Given the description of an element on the screen output the (x, y) to click on. 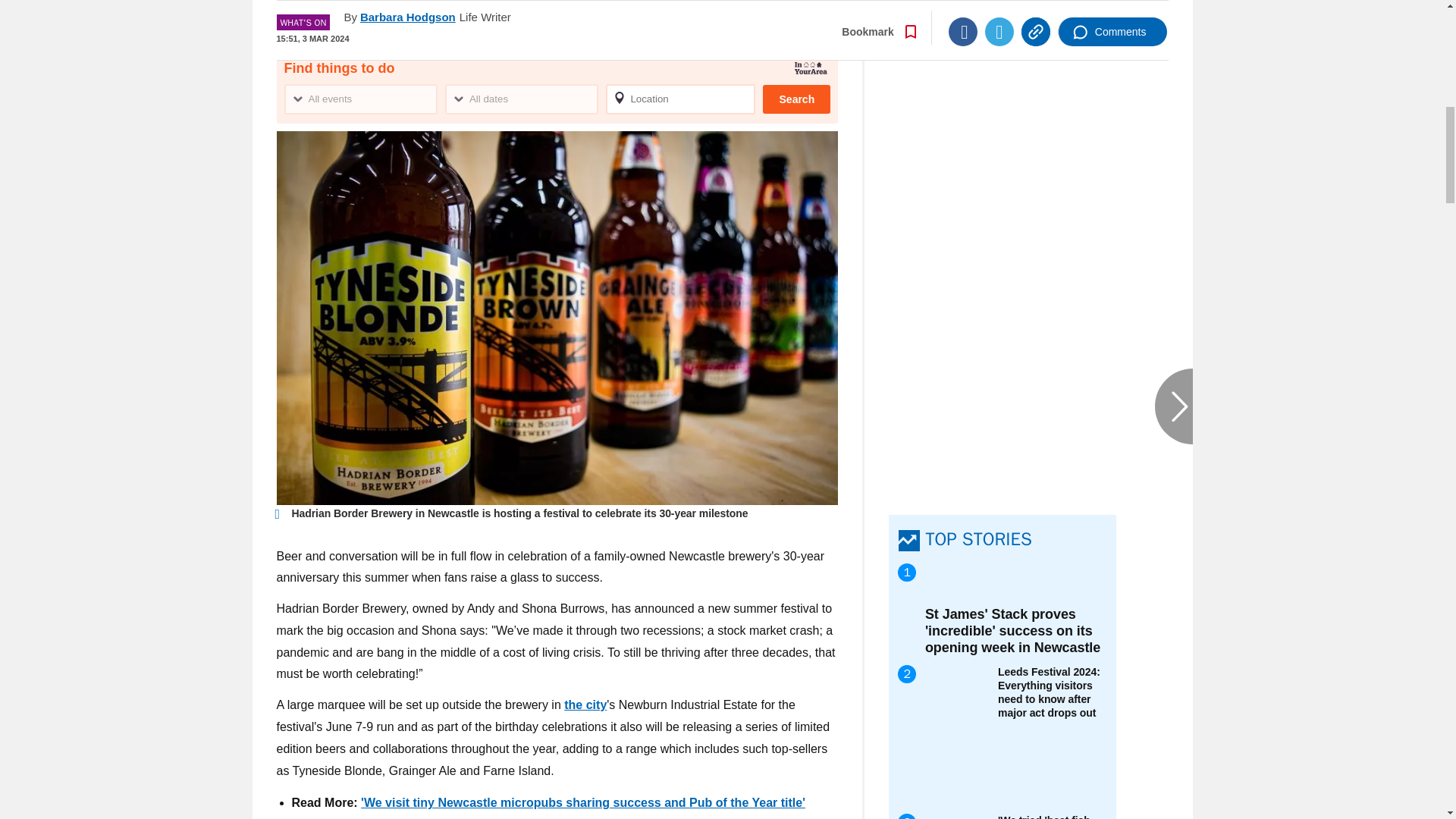
Twitter (999, 10)
Comments (1112, 10)
Facebook (962, 10)
